Given the description of an element on the screen output the (x, y) to click on. 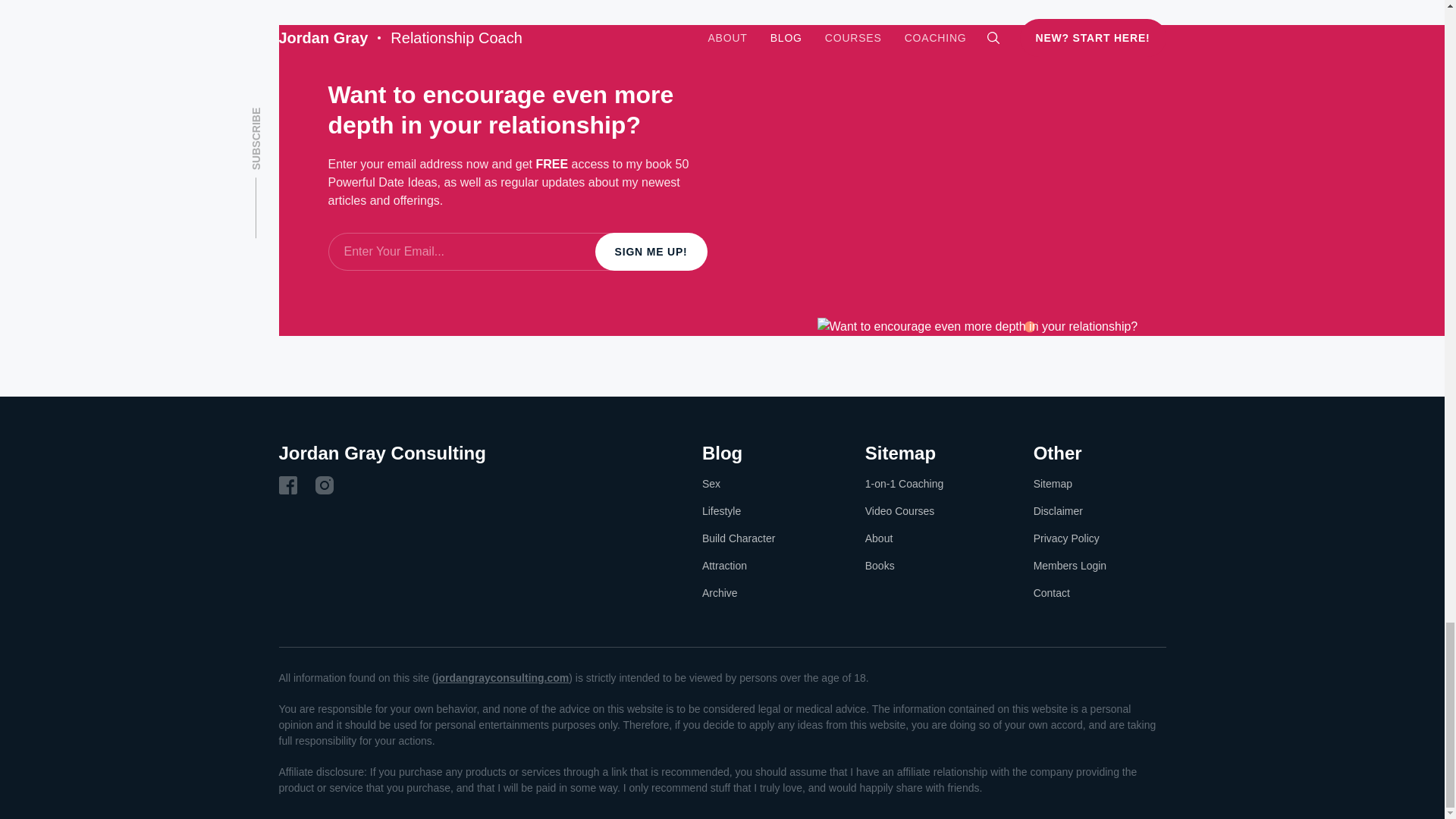
Instagram (324, 484)
Facebook (288, 484)
Sign Me Up! (651, 251)
